Given the description of an element on the screen output the (x, y) to click on. 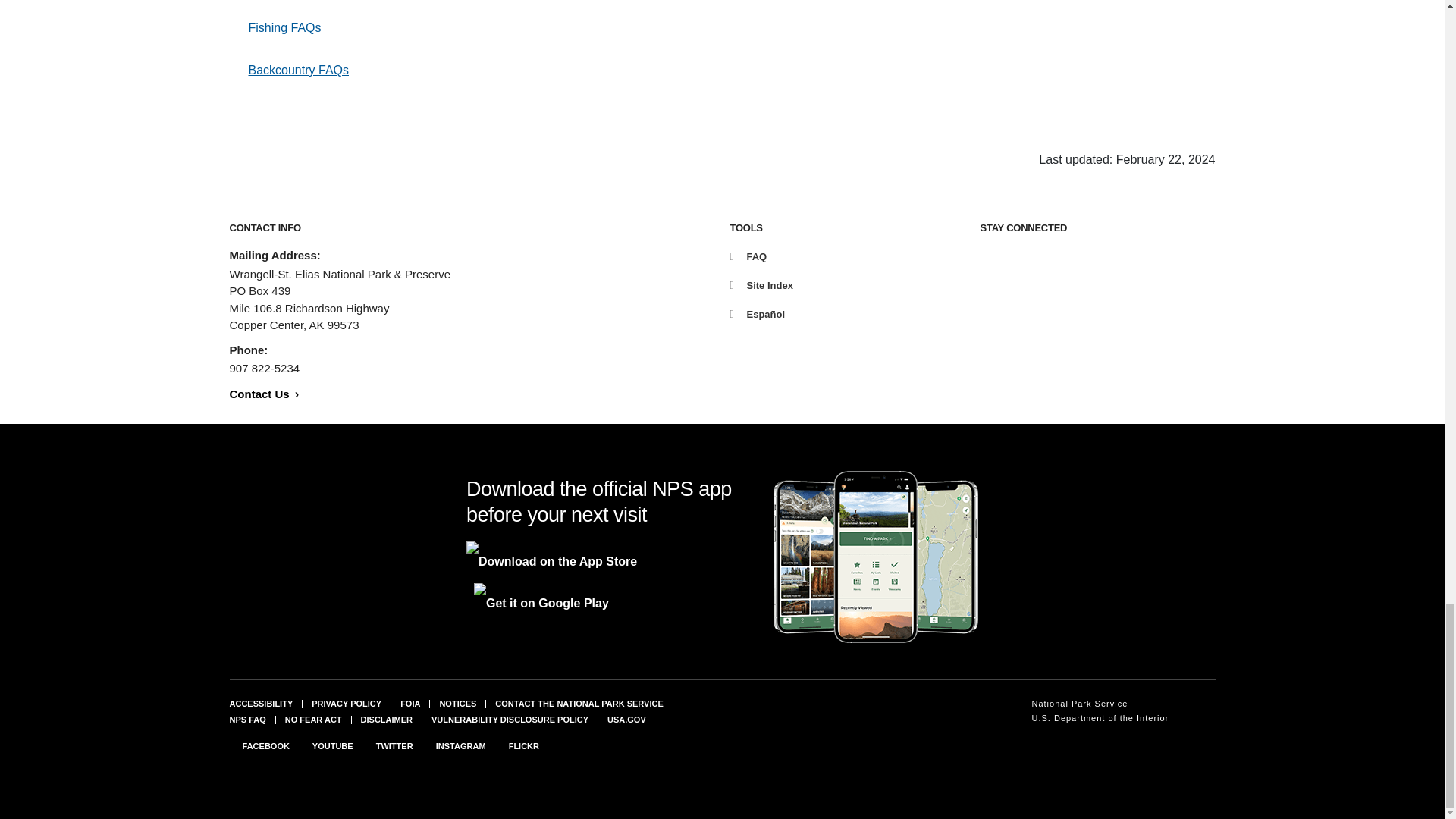
National Park Service frequently asked questions (246, 718)
